Given the description of an element on the screen output the (x, y) to click on. 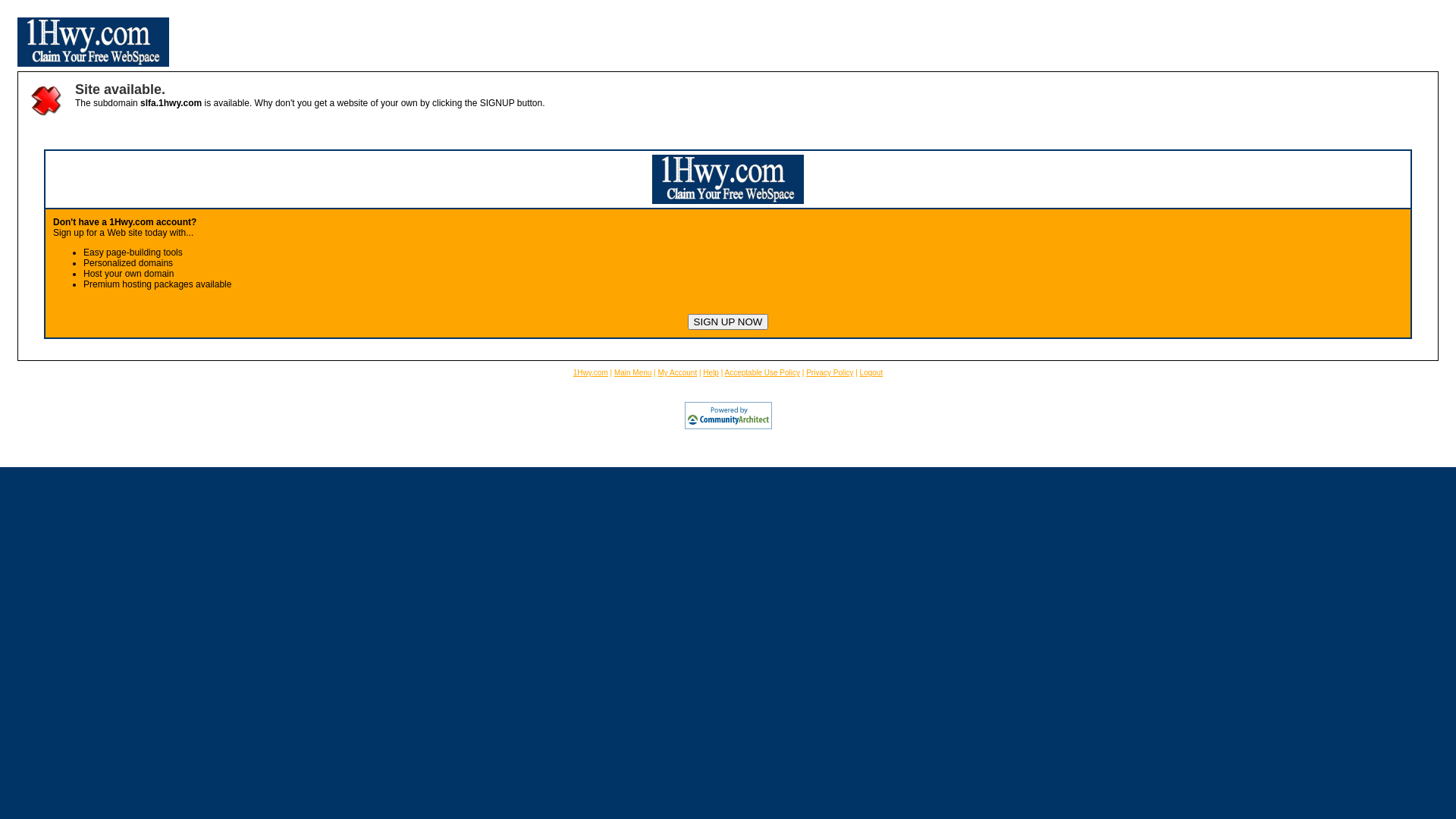
1Hwy.com Element type: text (590, 372)
Acceptable Use Policy Element type: text (762, 372)
SIGN UP NOW Element type: text (727, 321)
My Account Element type: text (677, 372)
Main Menu Element type: text (632, 372)
Logout Element type: text (871, 372)
Privacy Policy Element type: text (829, 372)
Help Element type: text (710, 372)
